Given the description of an element on the screen output the (x, y) to click on. 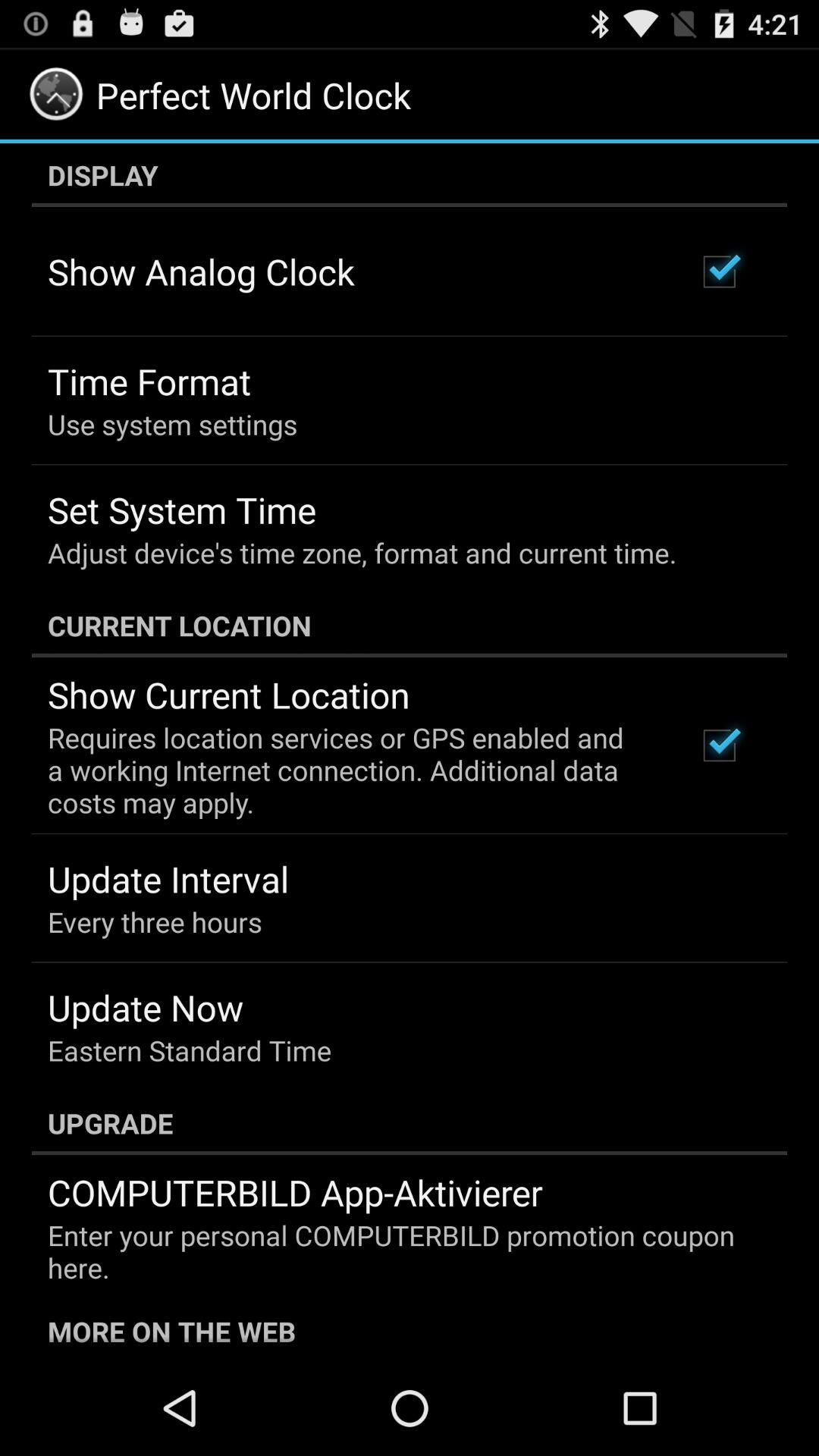
select the app above update now icon (154, 921)
